Given the description of an element on the screen output the (x, y) to click on. 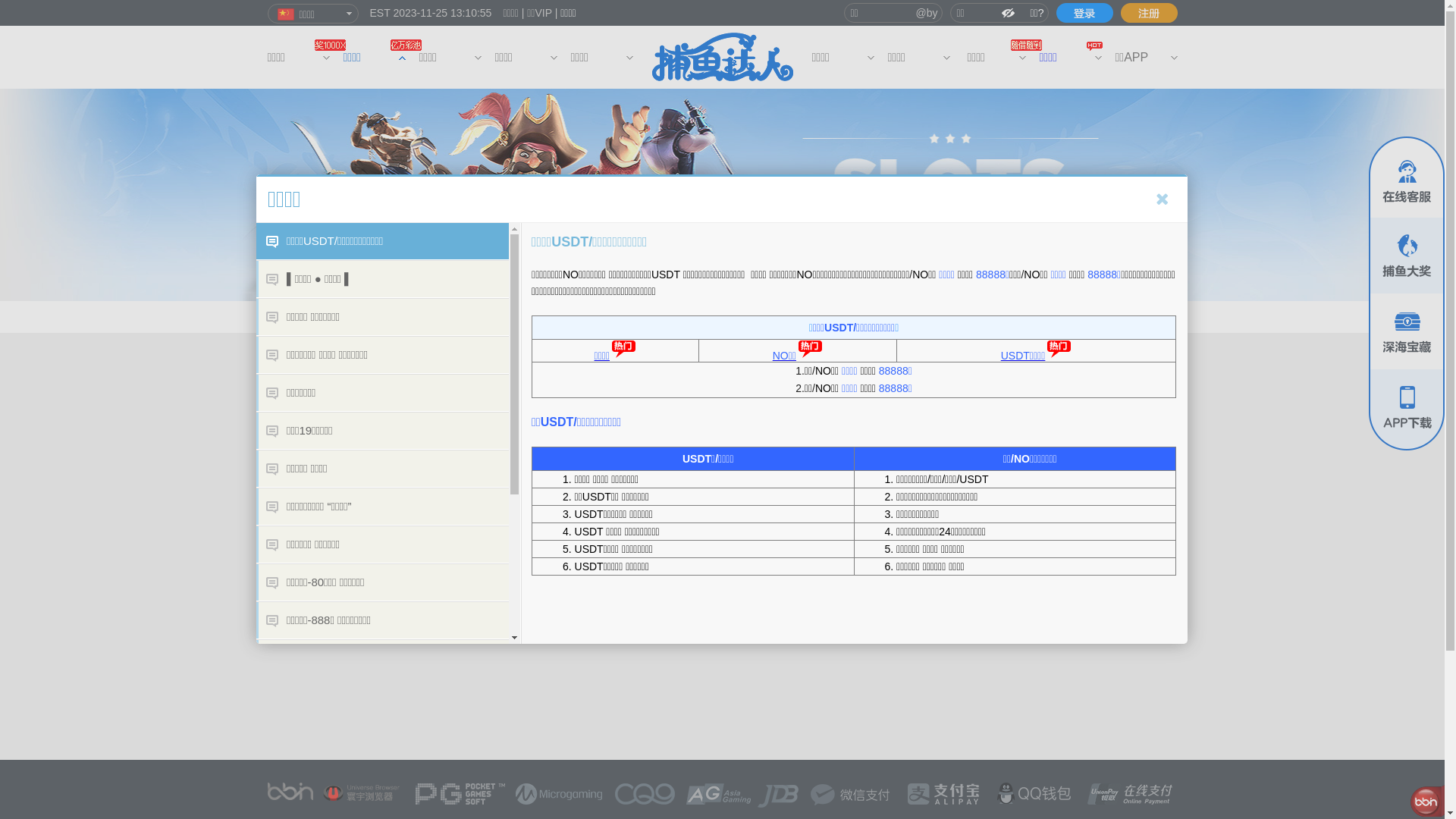
  Element type: text (1083, 12)
